Given the description of an element on the screen output the (x, y) to click on. 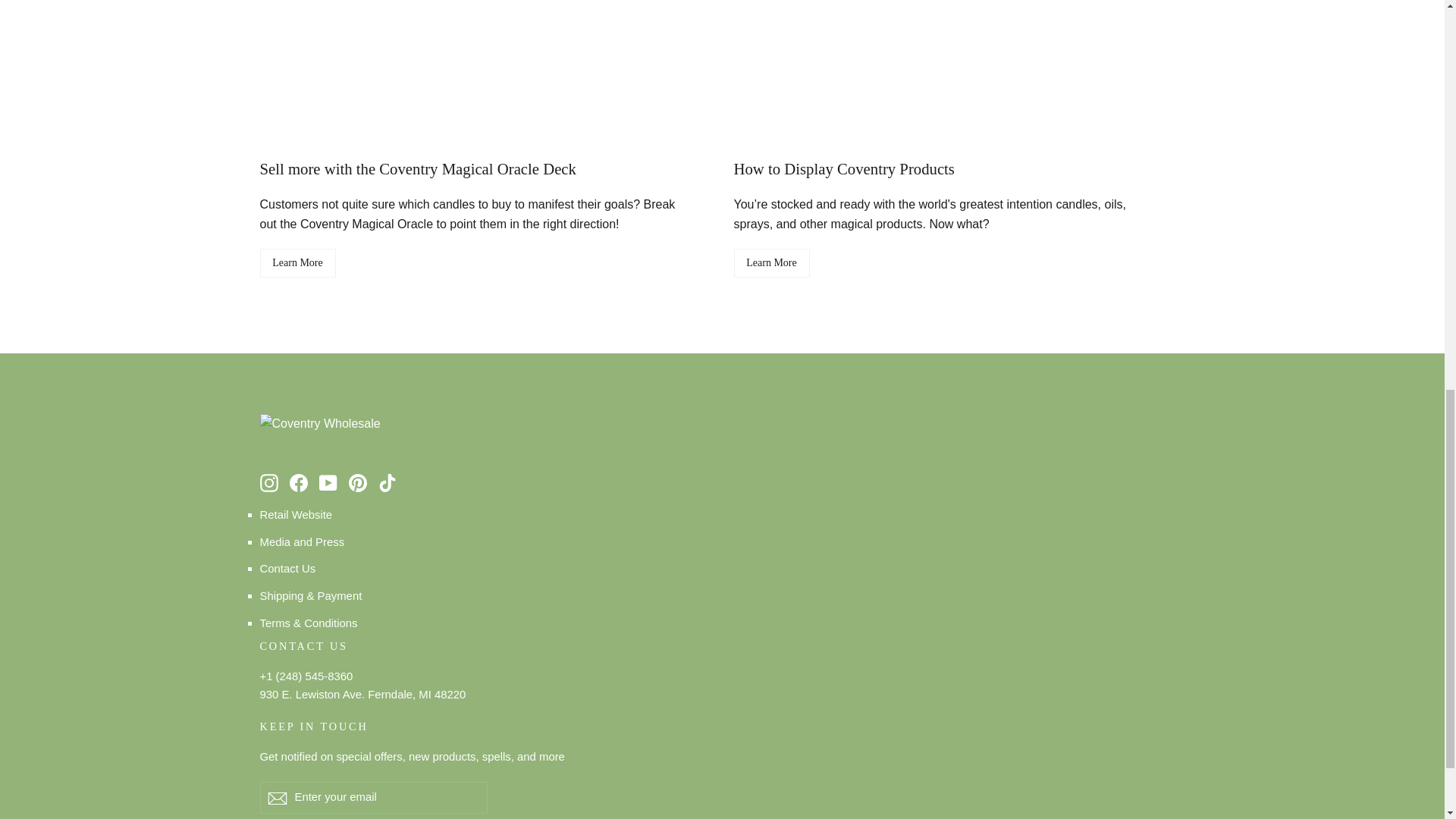
Coventry Wholesale on YouTube (327, 482)
Coventry Wholesale on Instagram (268, 482)
Coventry Wholesale on Facebook (298, 482)
Coventry Wholesale on Pinterest (357, 482)
Coventry Wholesale on TikTok (386, 482)
